Given the description of an element on the screen output the (x, y) to click on. 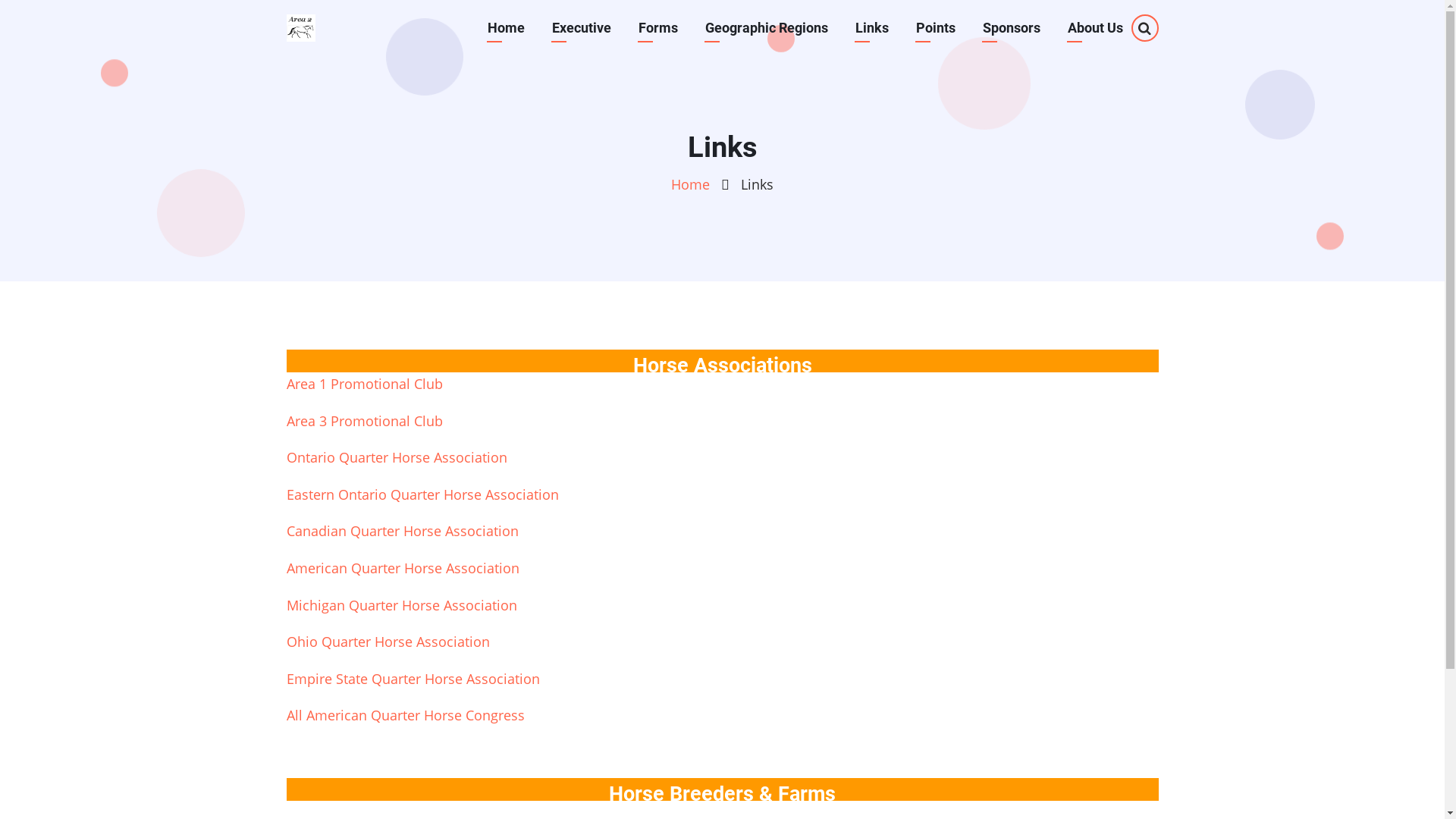
Empire State Quarter Horse Association Element type: text (412, 678)
Area 1 Promotional Club Element type: text (364, 383)
Points Element type: text (934, 27)
Sponsors Element type: text (1010, 27)
Eastern Ontario Quarter Horse Association Element type: text (422, 494)
Home Element type: text (505, 27)
All American Quarter Horse Congress Element type: text (405, 715)
Forms Element type: text (657, 27)
Links Element type: text (870, 27)
Area 3 Promotional Club Element type: text (364, 420)
Geographic Regions Element type: text (765, 27)
Ohio Quarter Horse Association Element type: text (387, 641)
Ontario Quarter Horse Association Element type: text (396, 457)
American Quarter Horse Association Element type: text (402, 567)
Home Element type: text (690, 184)
About Us Element type: text (1094, 27)
Home Element type: hover (300, 27)
Skip to main content Element type: text (0, 0)
Executive Element type: text (580, 27)
Michigan Quarter Horse Association Element type: text (401, 605)
Canadian Quarter Horse Association Element type: text (402, 530)
